Given the description of an element on the screen output the (x, y) to click on. 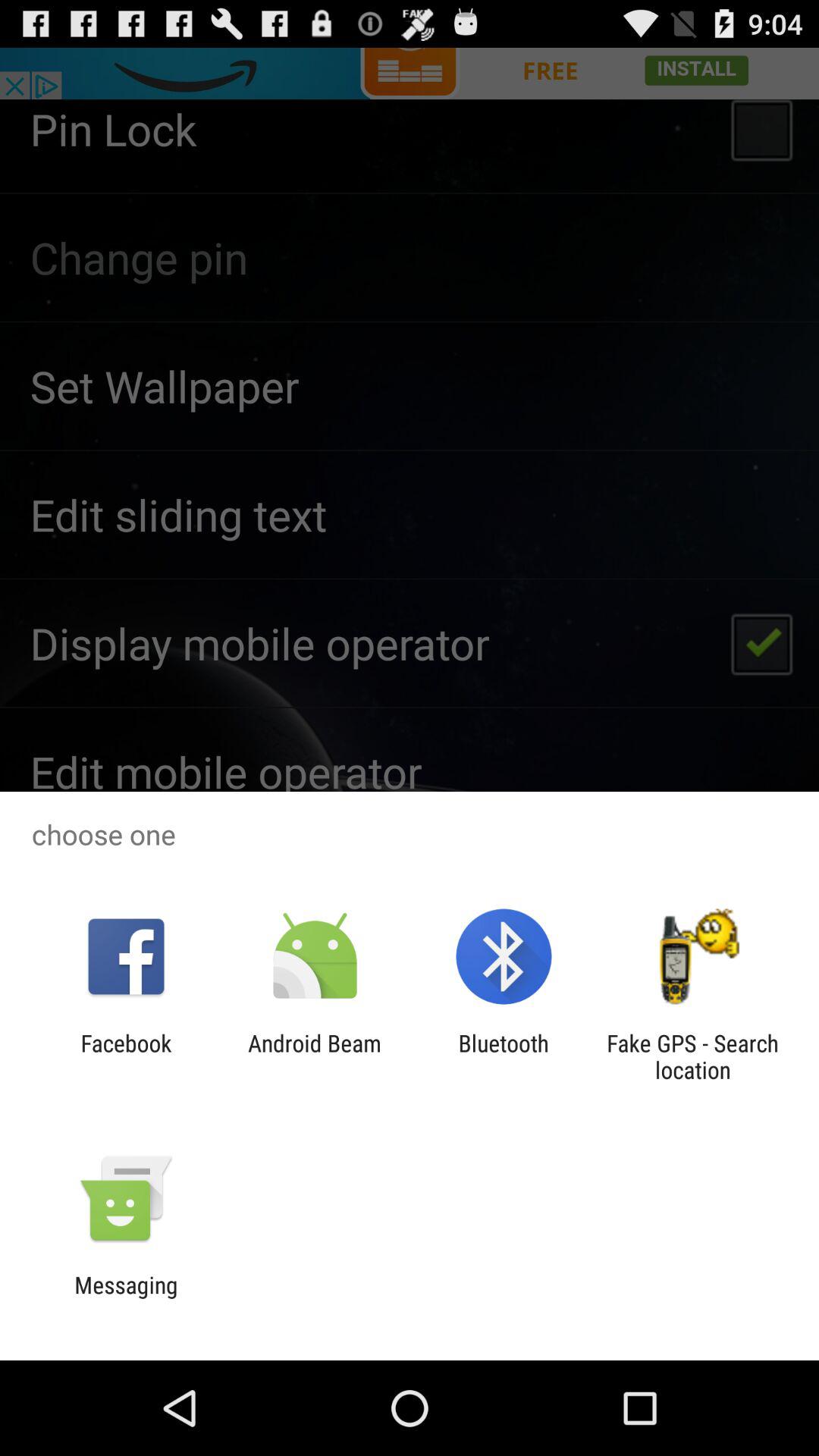
click item to the left of fake gps search app (503, 1056)
